Given the description of an element on the screen output the (x, y) to click on. 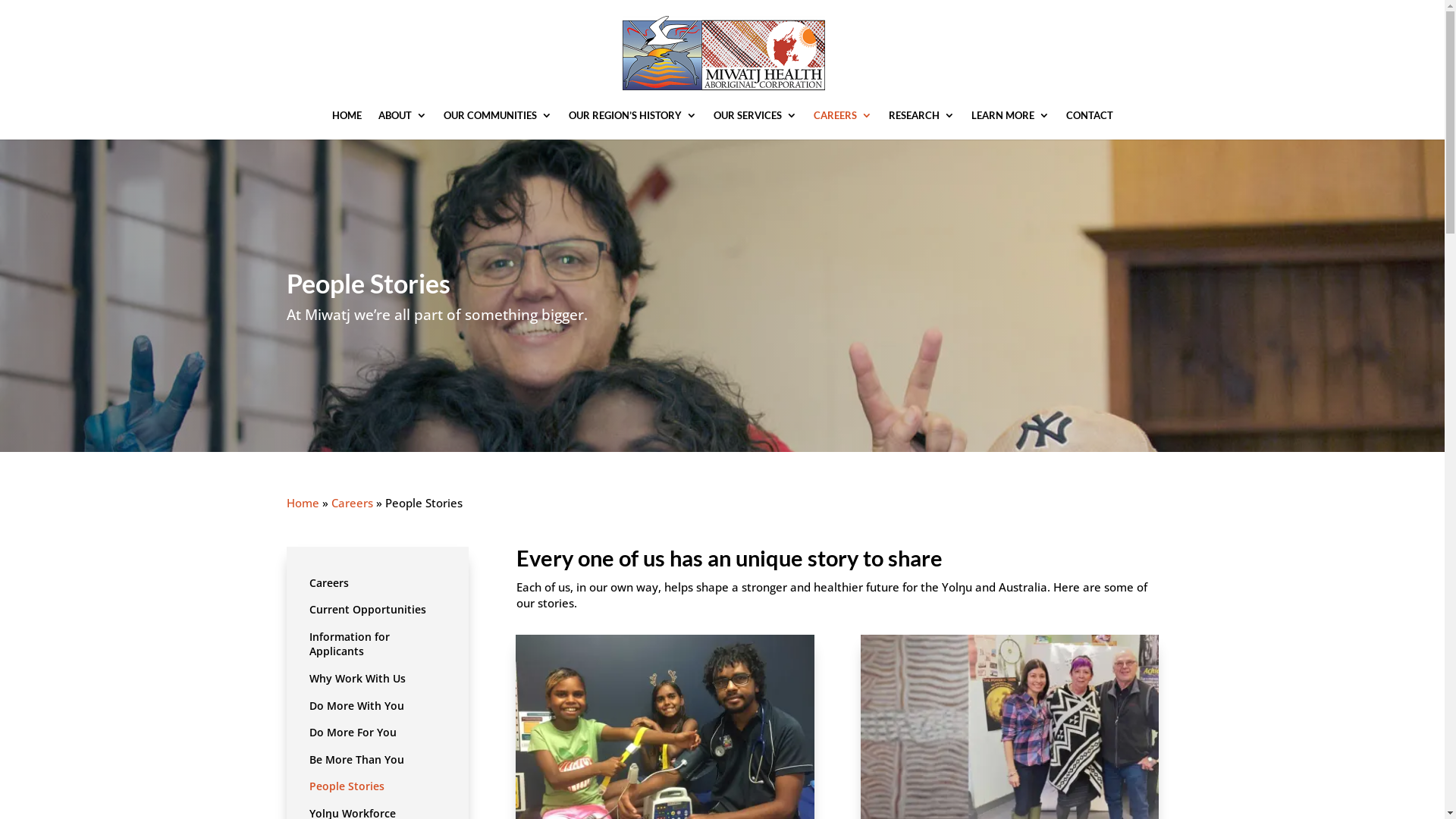
RESEARCH Element type: text (921, 124)
Home Element type: text (302, 502)
LEARN MORE Element type: text (1009, 124)
OUR SERVICES Element type: text (754, 124)
ABOUT Element type: text (401, 124)
Do More With You Element type: text (356, 708)
OUR COMMUNITIES Element type: text (496, 124)
Why Work With Us Element type: text (357, 681)
Current Opportunities Element type: text (367, 612)
Do More For You Element type: text (352, 735)
People Stories Element type: text (346, 789)
Careers Element type: text (328, 585)
Careers Element type: text (351, 502)
Information for Applicants Element type: text (377, 647)
CONTACT Element type: text (1089, 124)
CAREERS Element type: text (841, 124)
Be More Than You Element type: text (356, 762)
HOME Element type: text (346, 124)
